Given the description of an element on the screen output the (x, y) to click on. 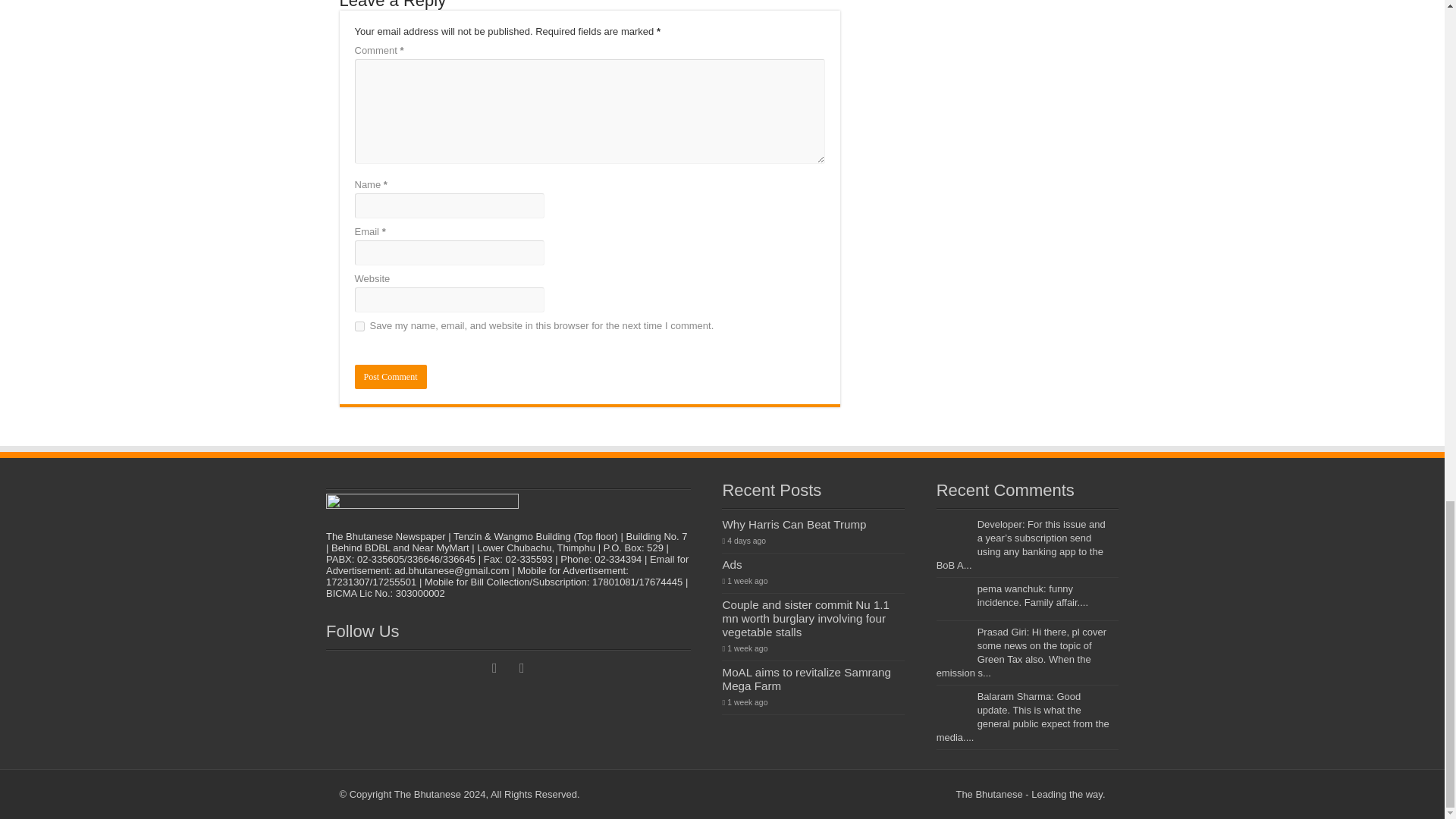
Post Comment (390, 376)
yes (360, 326)
